Given the description of an element on the screen output the (x, y) to click on. 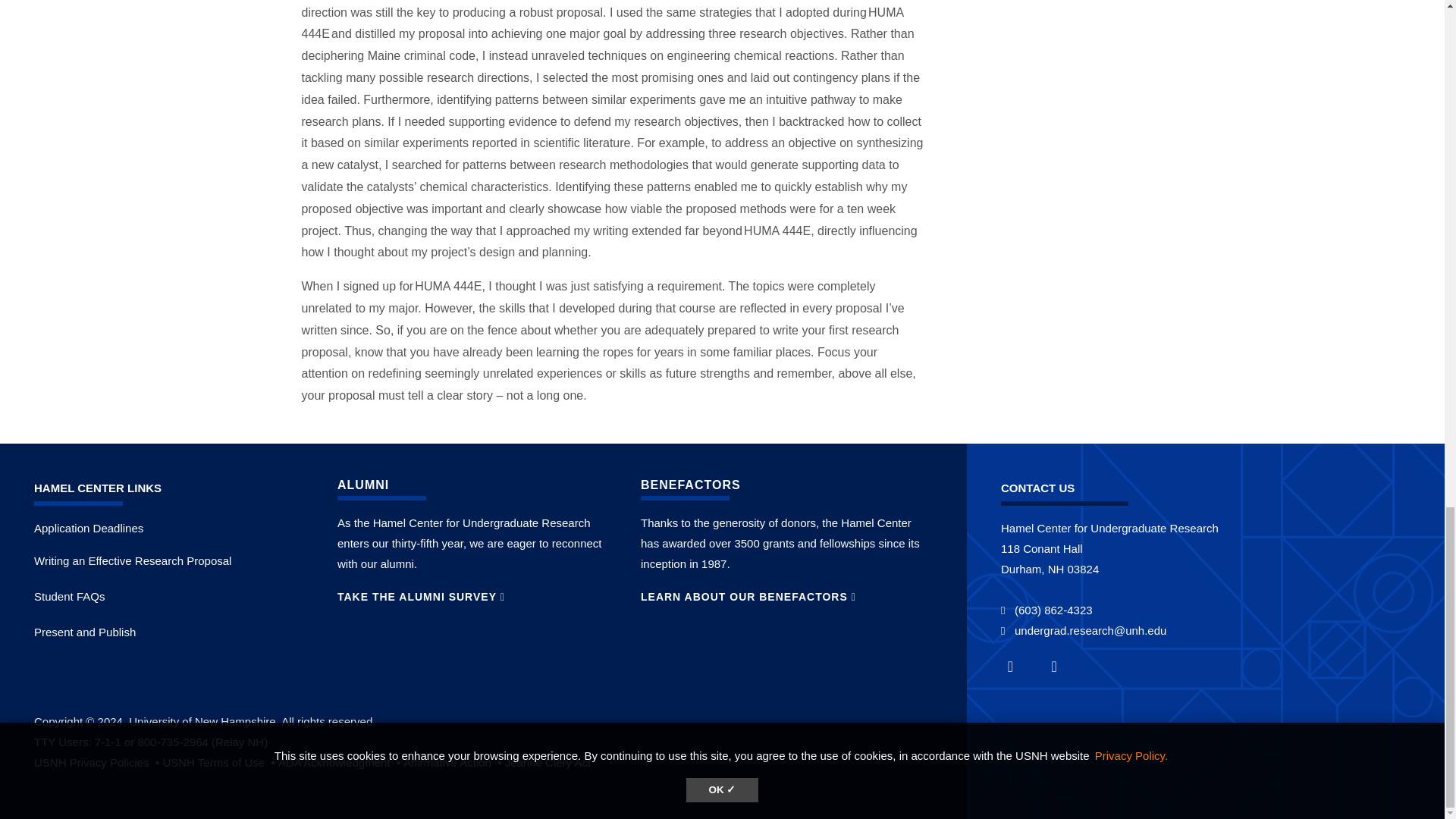
Student FAQs (68, 595)
Present and Publish (84, 631)
Learn more about ADA acknowledgement (340, 762)
Learn (453, 762)
Learn (97, 762)
Learn (548, 762)
Alumni survey (421, 596)
To Hamel Center Facebook (1018, 666)
Application Deadlines (87, 527)
Writing an Effective Research Proposal (132, 560)
